Given the description of an element on the screen output the (x, y) to click on. 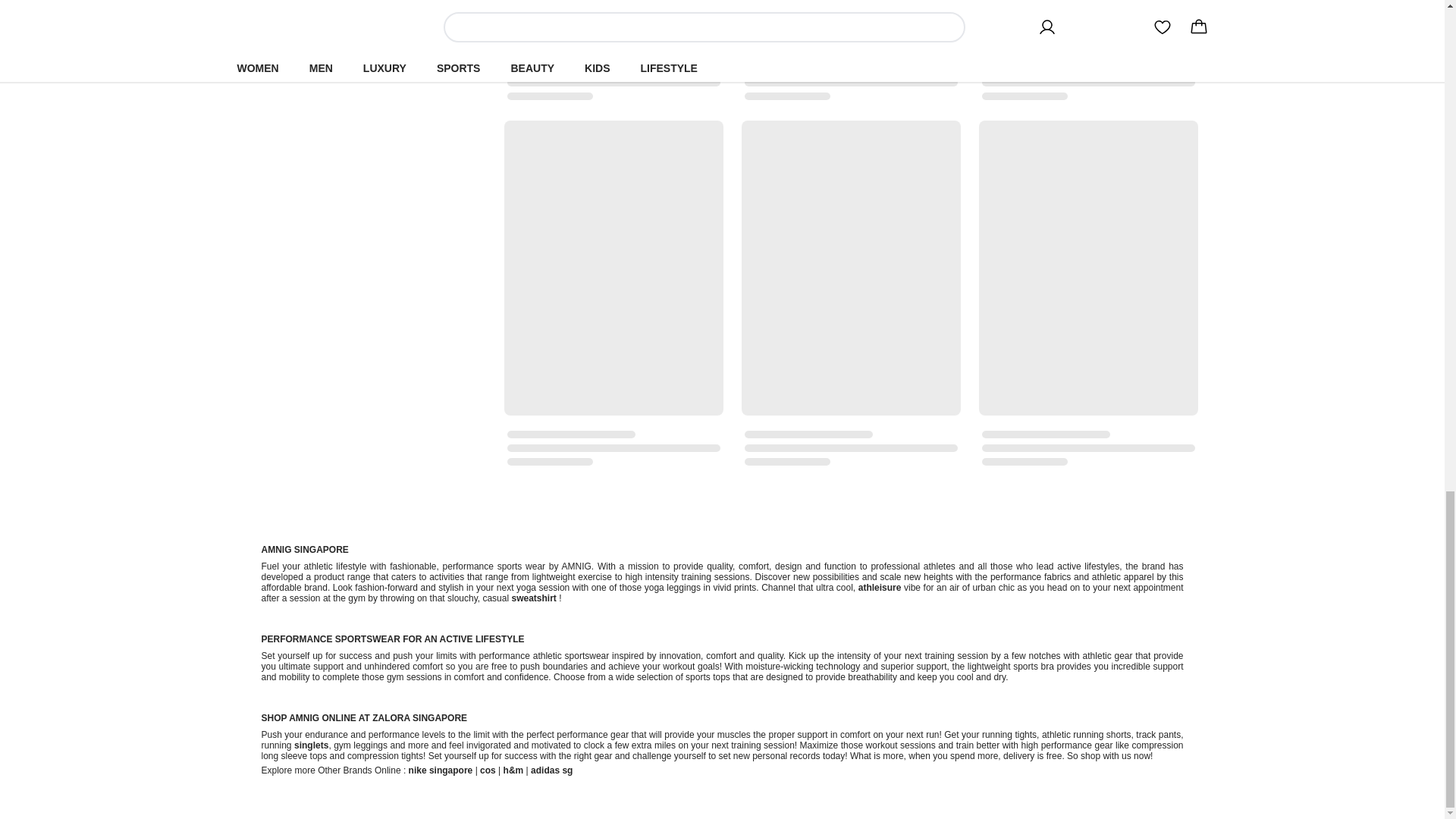
adidas sg (551, 769)
athleisure (880, 587)
singlets (311, 745)
nike singapore (441, 769)
sweatshirt (533, 597)
cos (488, 769)
